Given the description of an element on the screen output the (x, y) to click on. 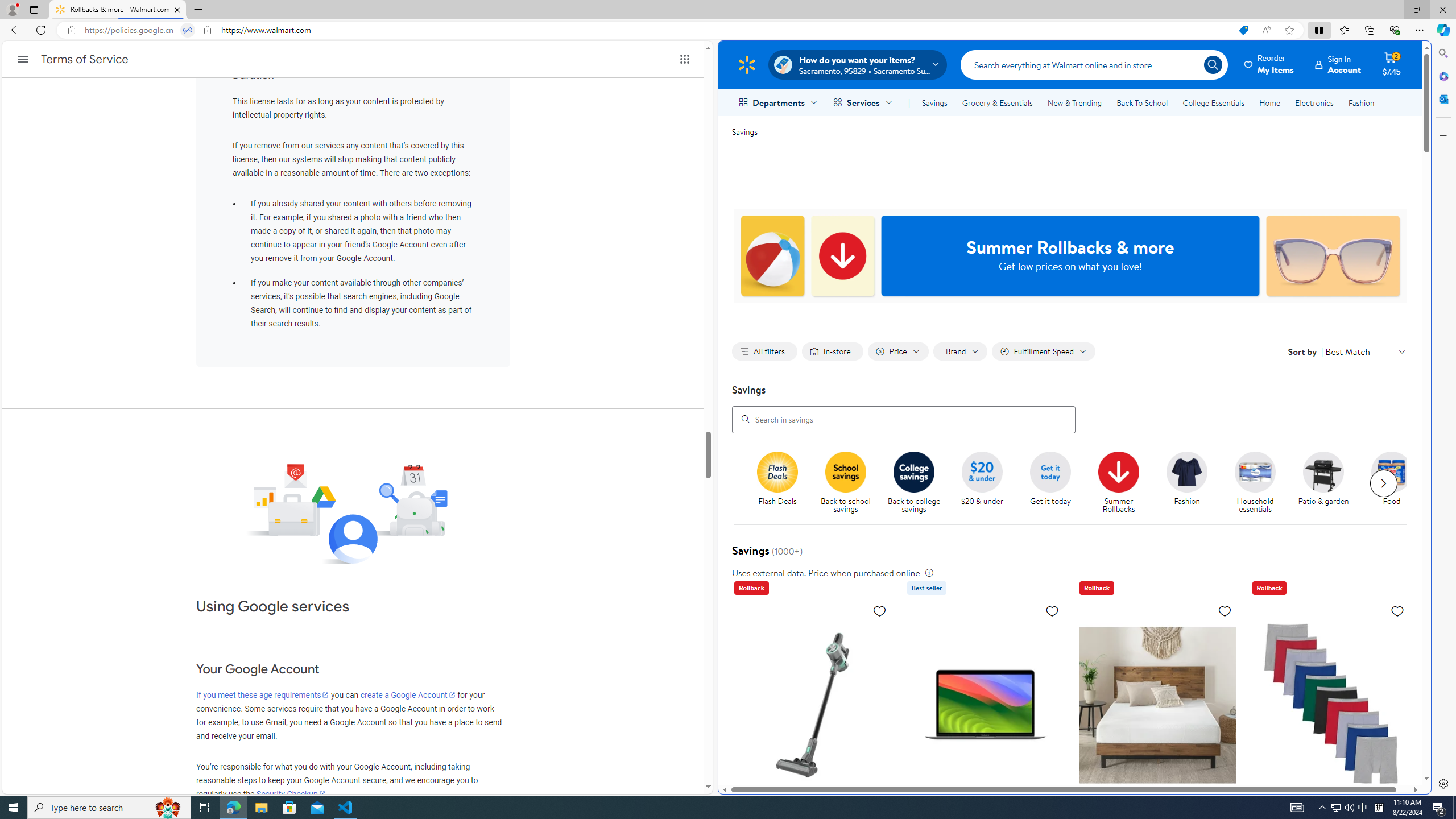
Reorder My Items (1269, 64)
Get it today (1054, 483)
Get it today (1050, 471)
Copilot (Ctrl+Shift+.) (1442, 29)
Household essentials (1259, 483)
Sign InAccount (1338, 64)
$20 and under (982, 471)
Patio & garden (1328, 483)
Microsoft 365 (1442, 76)
Search (1093, 64)
Rollbacks & more - Walmart.com (117, 9)
Search (743, 419)
